Given the description of an element on the screen output the (x, y) to click on. 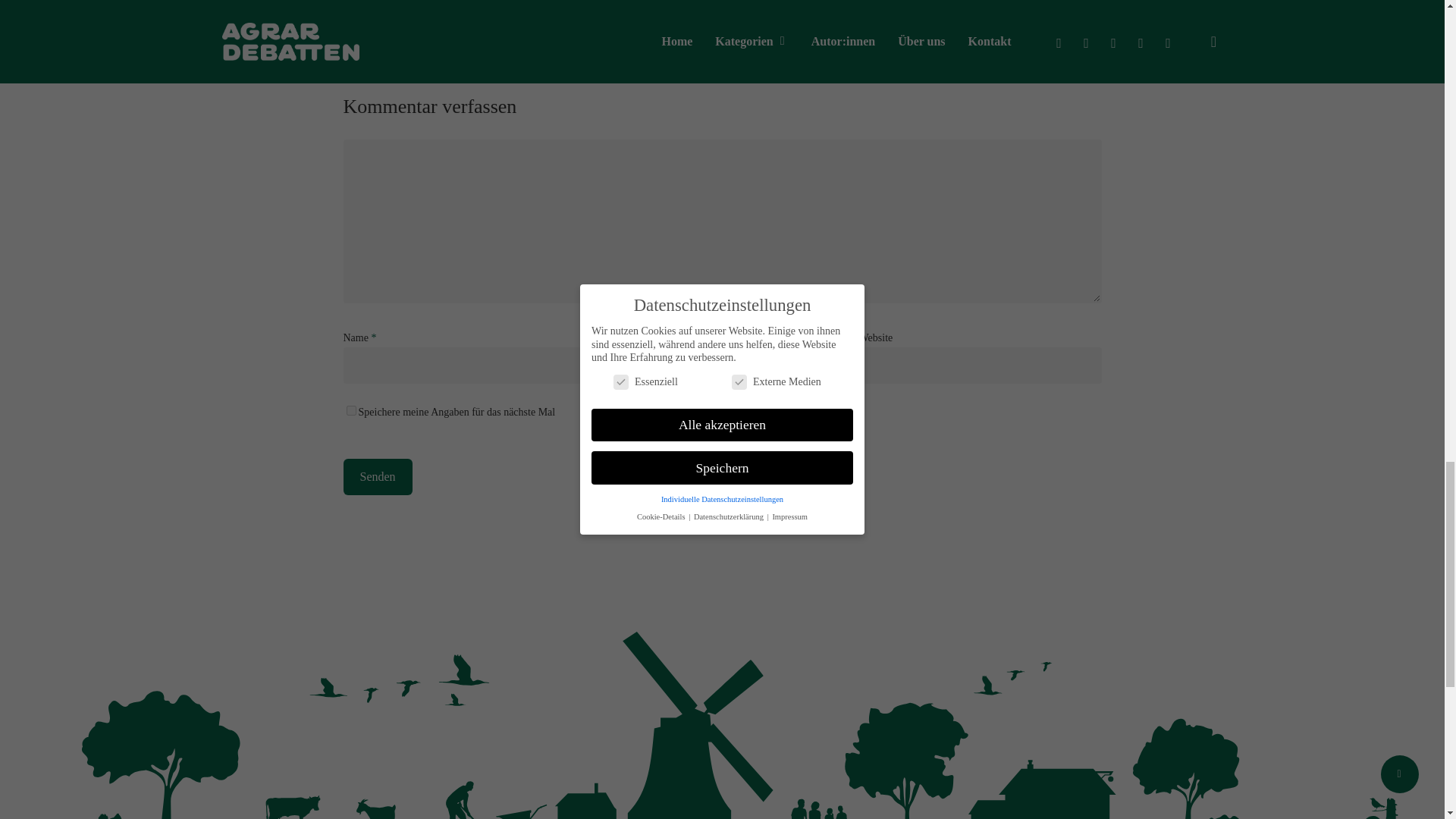
Senden (377, 476)
Senden (377, 476)
yes (350, 410)
